Given the description of an element on the screen output the (x, y) to click on. 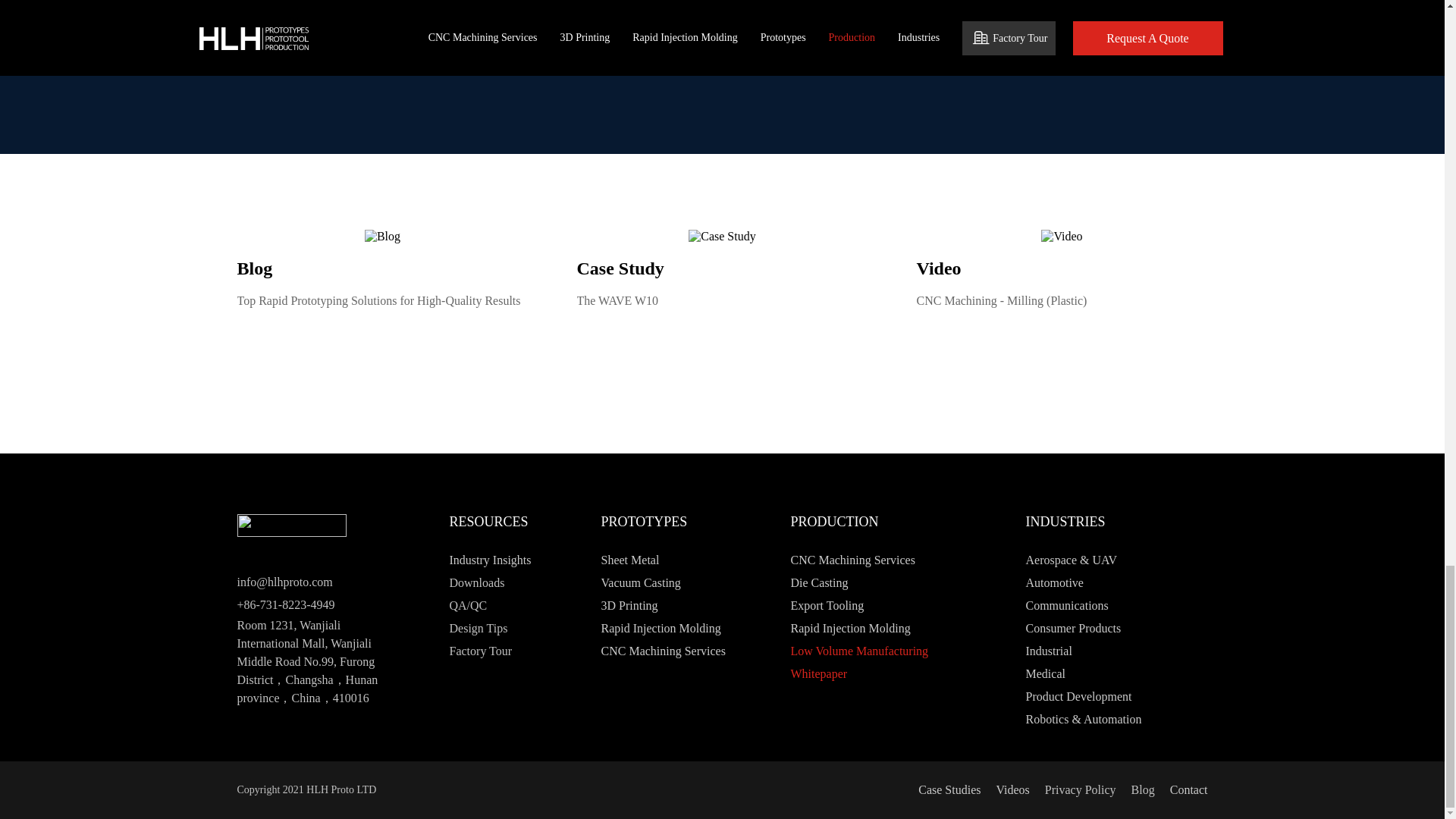
Blog (382, 236)
Export Tooling (884, 605)
CNC Machining Services (694, 650)
3D Printing (694, 605)
3D Printing  (694, 605)
Sheet Metal  (694, 559)
Video (1061, 236)
Case Study (721, 236)
Factory Tour (543, 650)
Rapid Injection Molding  (694, 628)
Industry Insights (543, 559)
Downloads (543, 582)
Design Tips (543, 628)
Factory Tour (543, 650)
CNC Machining Services (884, 559)
